Given the description of an element on the screen output the (x, y) to click on. 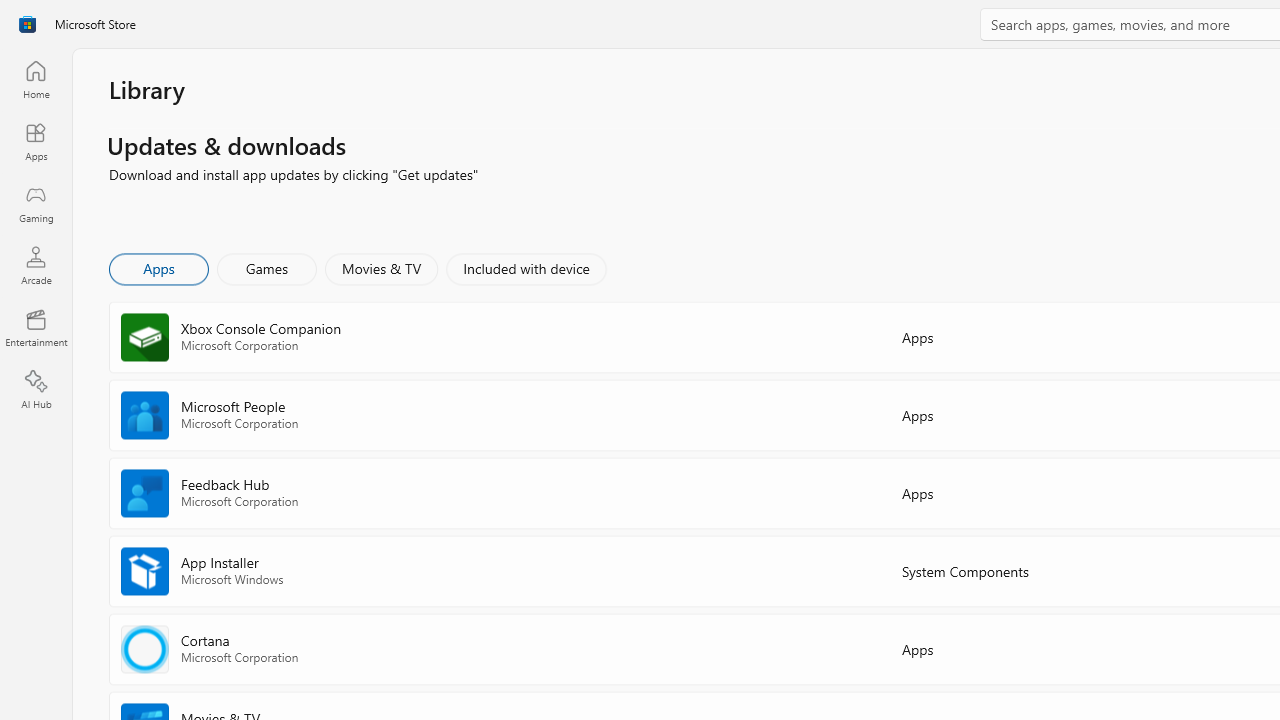
Included with device (525, 268)
Games (267, 268)
Movies & TV (381, 268)
